Given the description of an element on the screen output the (x, y) to click on. 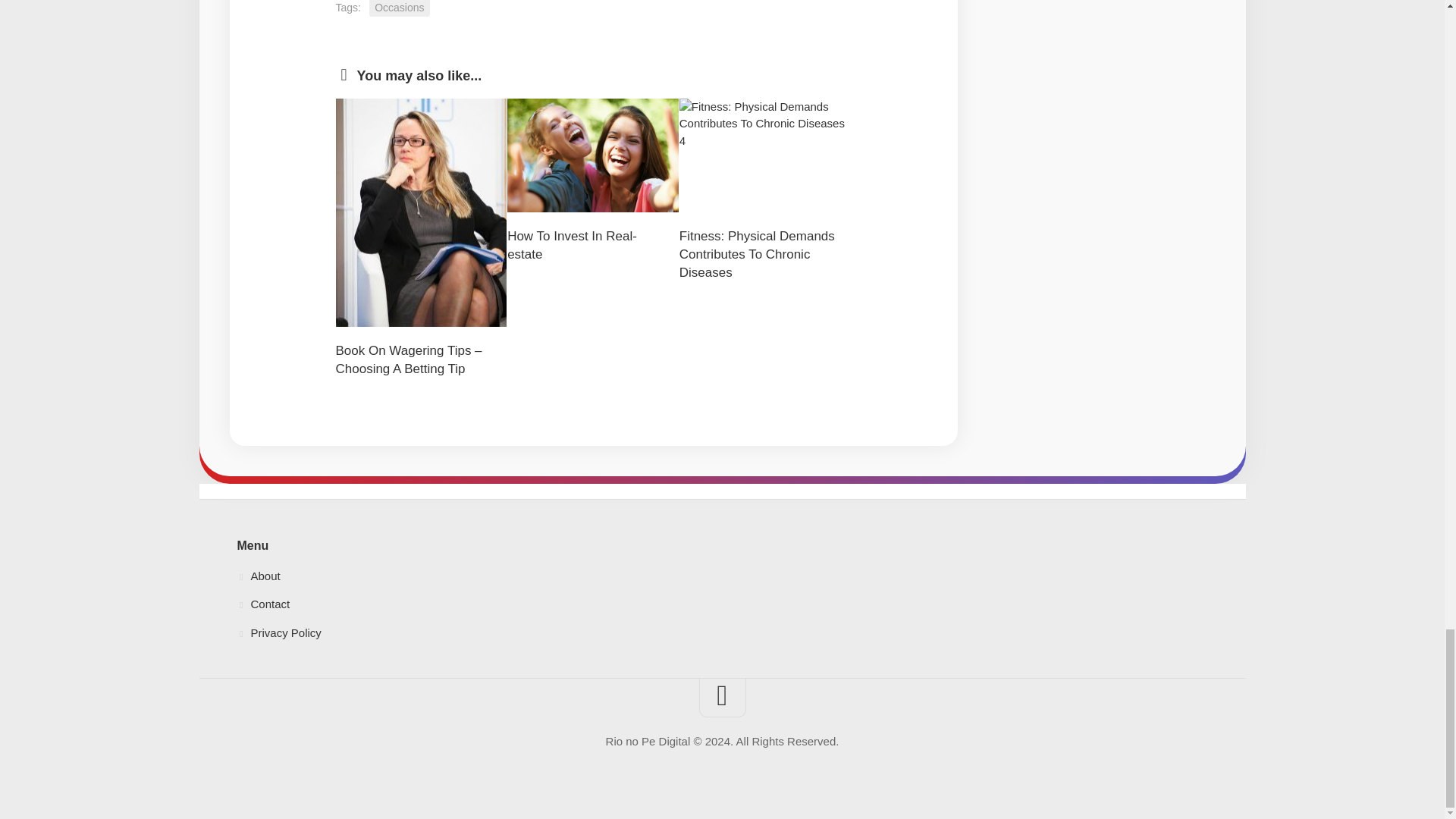
Fitness: Physical Demands Contributes To Chronic Diseases (756, 254)
About (721, 576)
Contact (721, 604)
Occasions (399, 8)
How To Invest In Real-estate (571, 245)
